Given the description of an element on the screen output the (x, y) to click on. 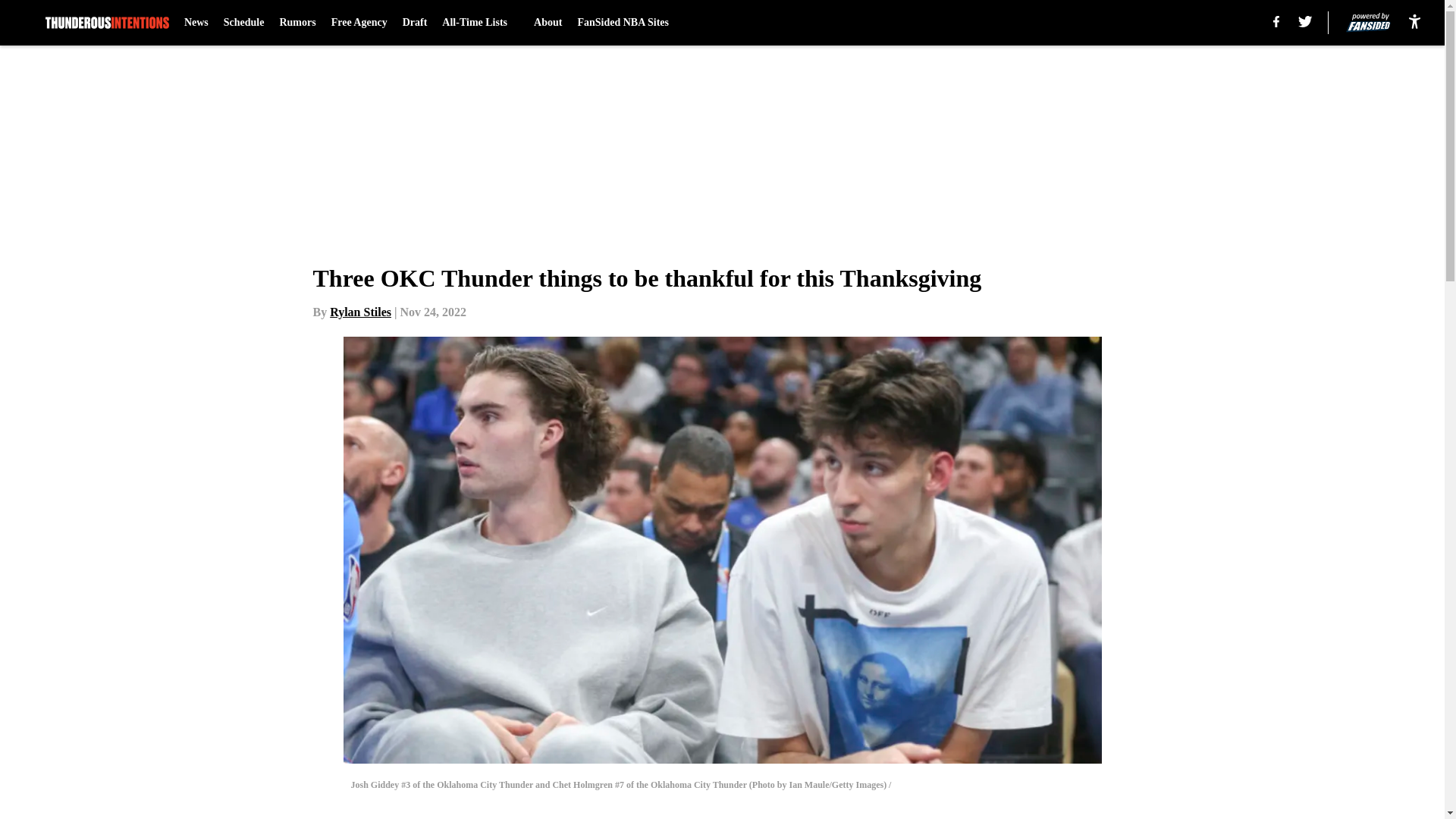
About (548, 22)
All-Time Lists (480, 22)
Free Agency (359, 22)
Draft (415, 22)
News (196, 22)
Schedule (244, 22)
FanSided NBA Sites (622, 22)
Rylan Stiles (360, 311)
Rumors (297, 22)
